Given the description of an element on the screen output the (x, y) to click on. 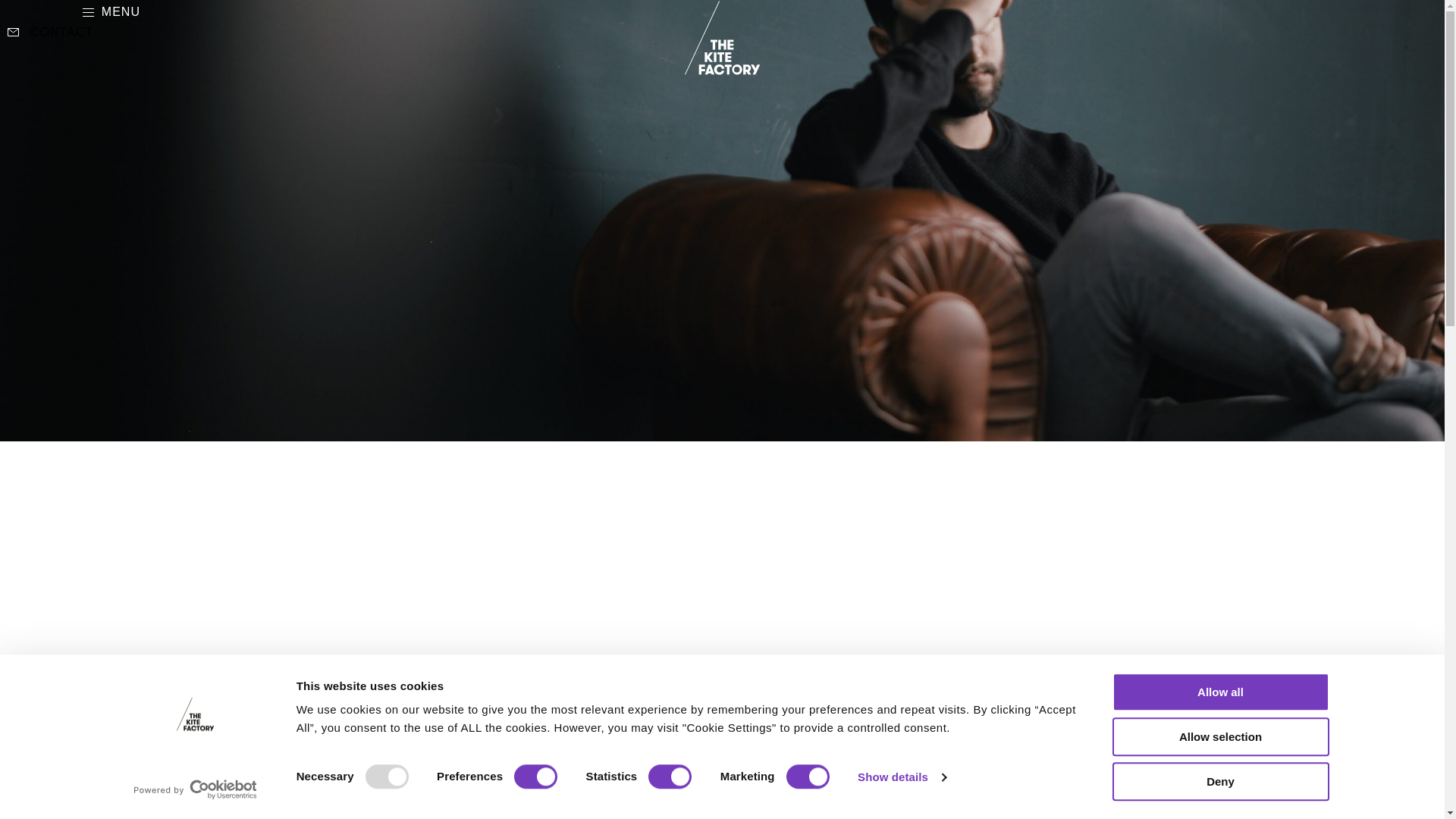
Contact (50, 32)
Allow all (1219, 691)
Show details (900, 776)
Deny (1219, 781)
Allow selection (1219, 736)
The Kite Factory (722, 38)
